Given the description of an element on the screen output the (x, y) to click on. 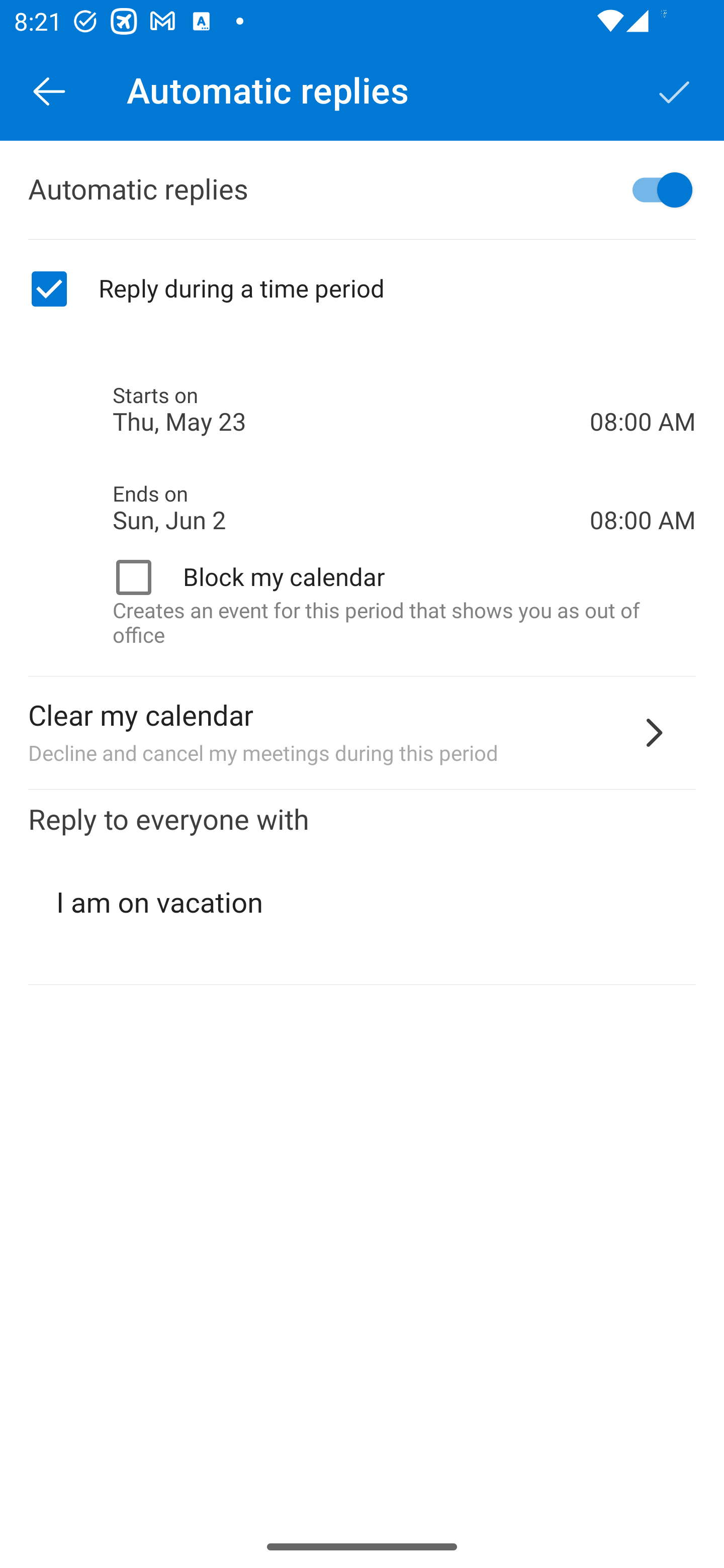
Back (49, 90)
Save (674, 90)
Automatic replies (362, 190)
Reply during a time period (362, 288)
08:00 AM (642, 387)
Starts on Thu, May 23 (351, 409)
08:00 AM (642, 485)
Ends on Sun, Jun 2 (351, 507)
Reply to everyone with Edit box I am on vacation (361, 887)
I am on vacation (363, 902)
